Given the description of an element on the screen output the (x, y) to click on. 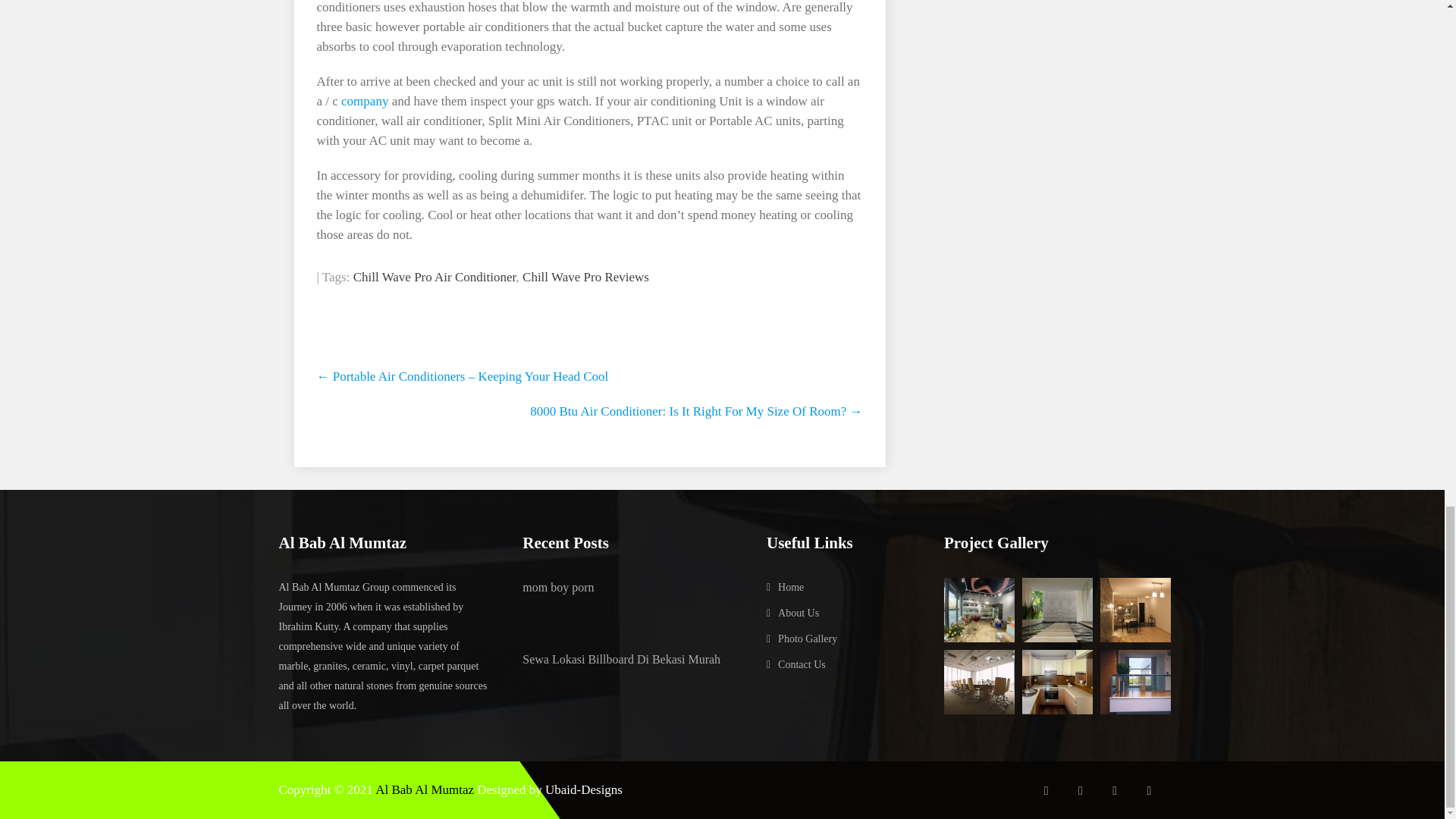
Home (790, 587)
Chill Wave Pro Air Conditioner (434, 277)
Al Bab Al Mumtaz (424, 789)
About Us (797, 612)
Chill Wave Pro Reviews (585, 277)
Photo Gallery (807, 638)
Contact Us (801, 664)
mom boy porn (628, 587)
company (364, 101)
Sewa Lokasi Billboard Di Bekasi Murah (628, 659)
